Given the description of an element on the screen output the (x, y) to click on. 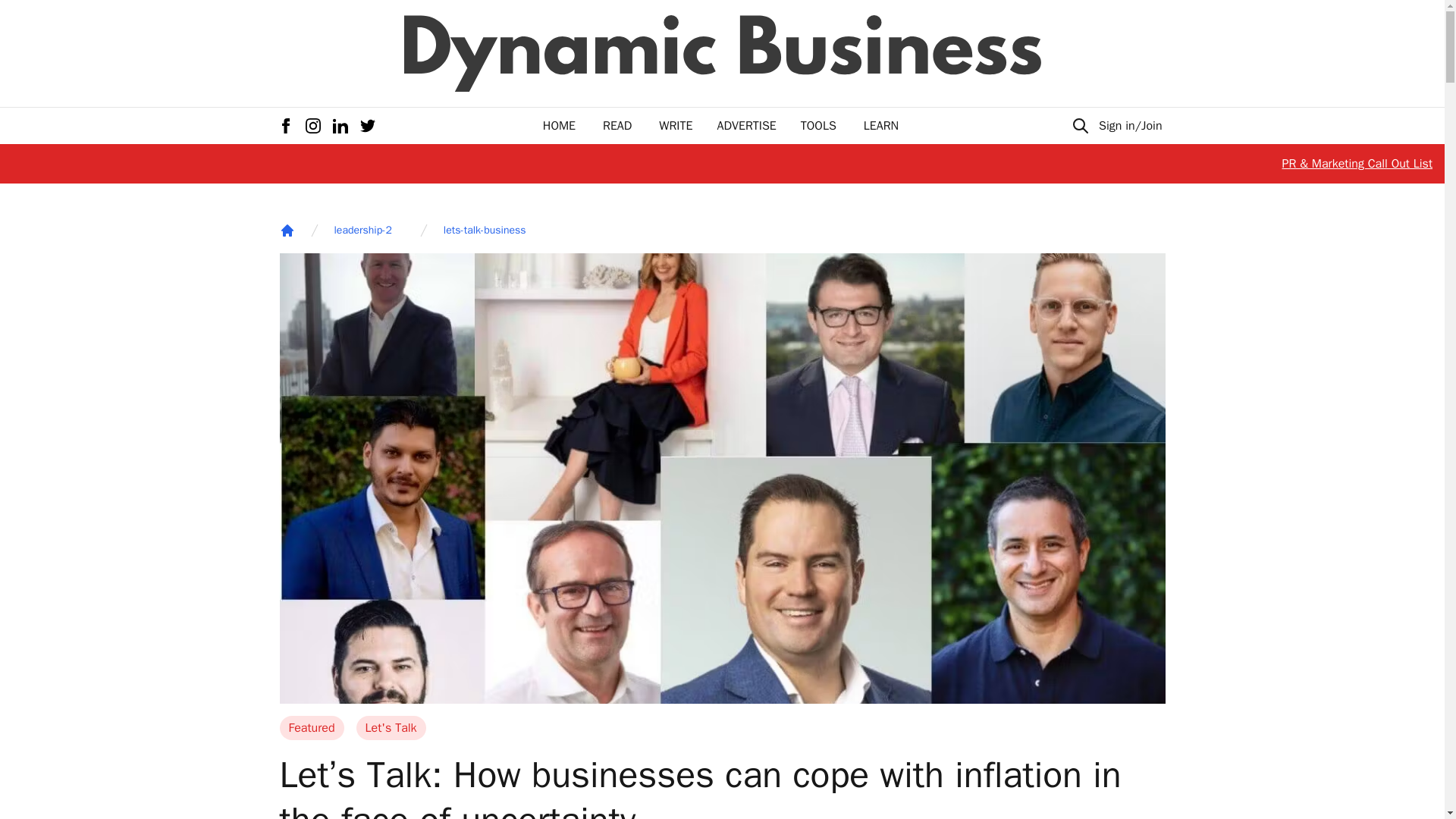
lets-talk-business (484, 230)
Let's Talk (391, 727)
WRITE (676, 126)
LEARN (880, 126)
ADVERTISE (746, 126)
Home (286, 230)
TOOLS (817, 126)
READ (616, 126)
Featured (311, 727)
HOME (559, 126)
